Given the description of an element on the screen output the (x, y) to click on. 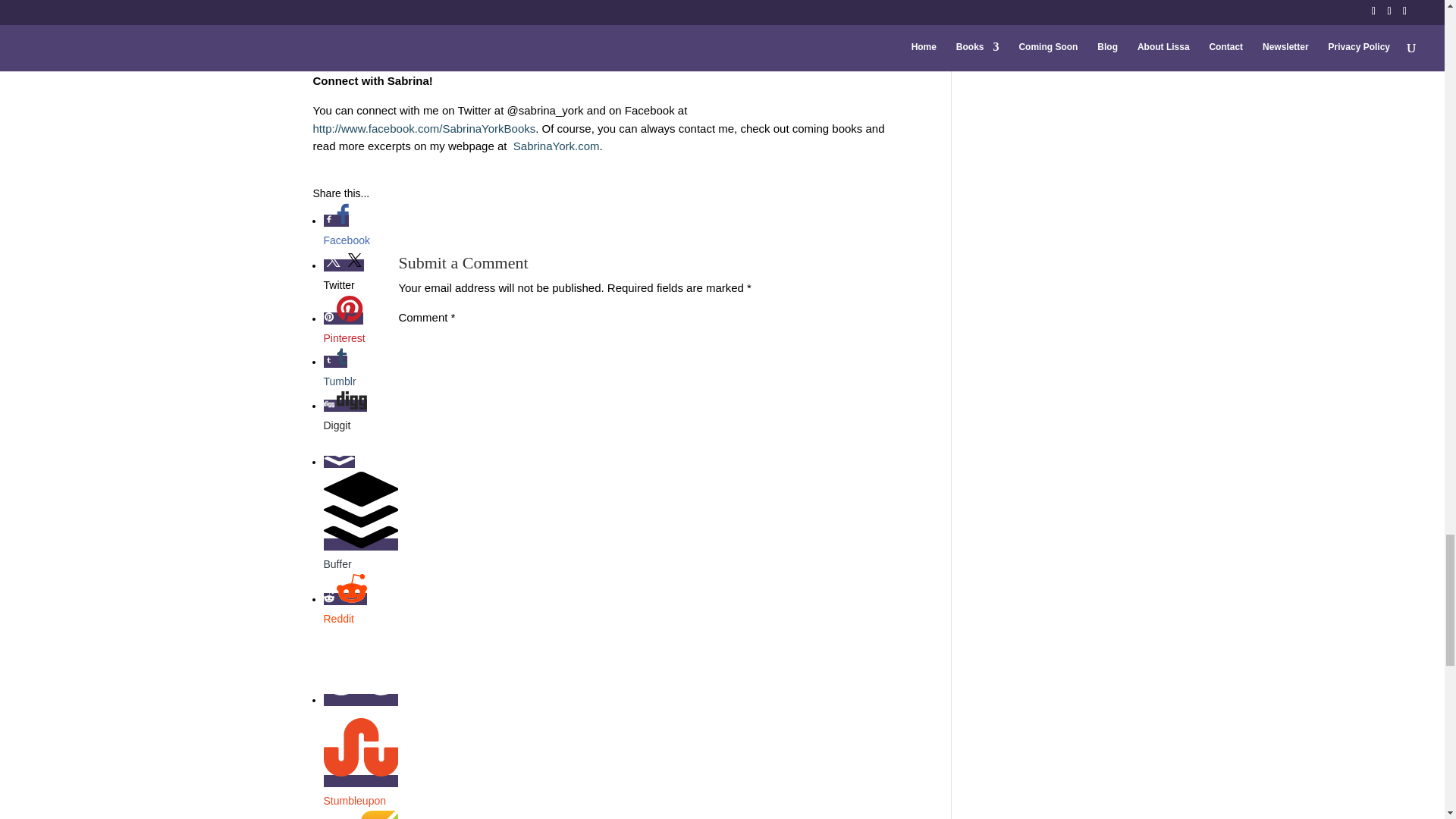
Stumbleupon (360, 800)
Pinterest (360, 330)
Tumblr (360, 381)
Twitter (360, 284)
Facebook (360, 232)
Twitter (360, 276)
 SabrinaYork.com (555, 145)
Facebook (360, 240)
Diggit (360, 424)
Diggit (360, 416)
Reddit (360, 618)
Buffer (360, 564)
Tumblr (360, 373)
Reddit (360, 610)
Pinterest (360, 338)
